Given the description of an element on the screen output the (x, y) to click on. 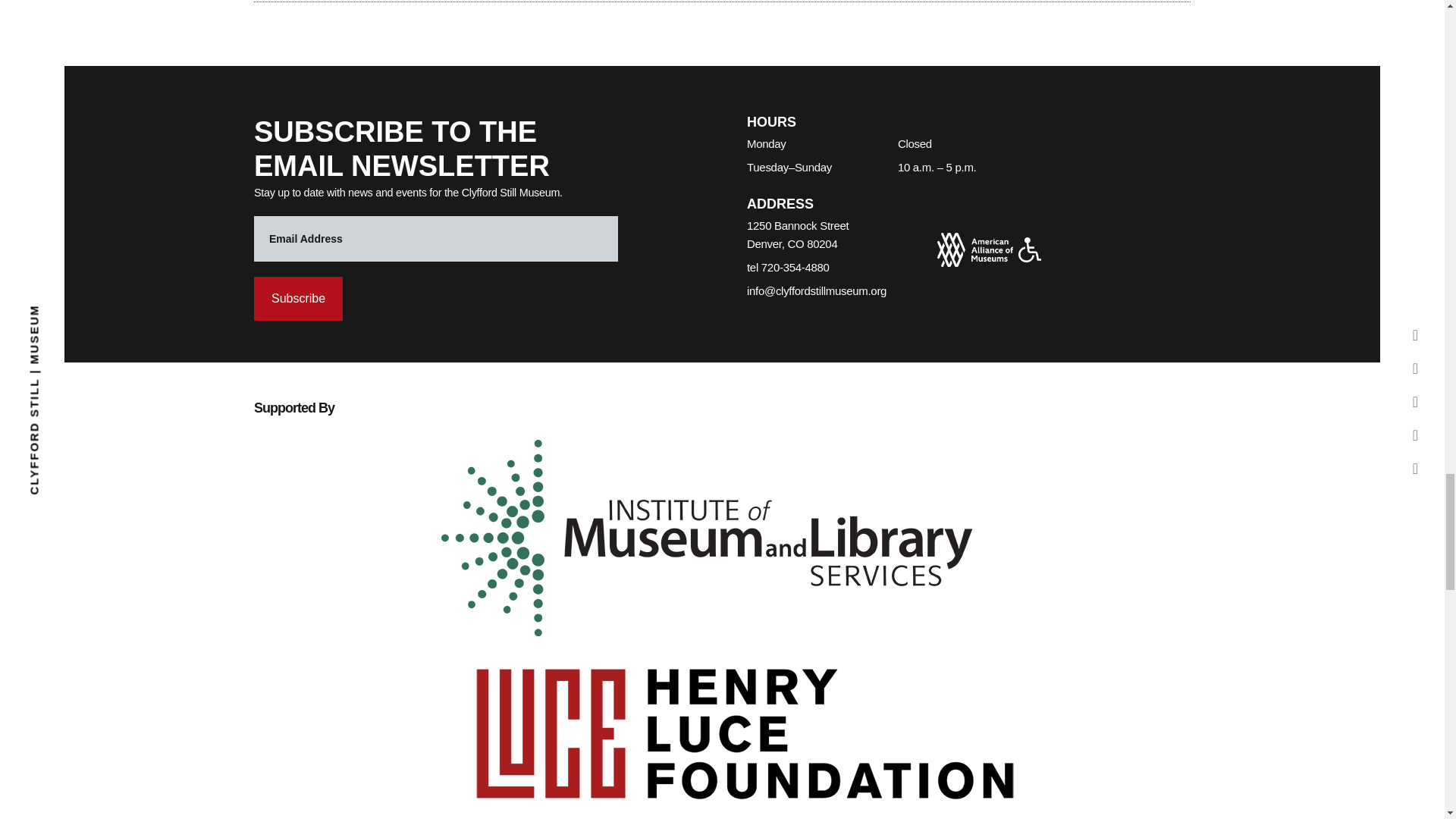
Henry Luce Foundation (744, 728)
Subscribe (297, 298)
IMLS (706, 537)
